Given the description of an element on the screen output the (x, y) to click on. 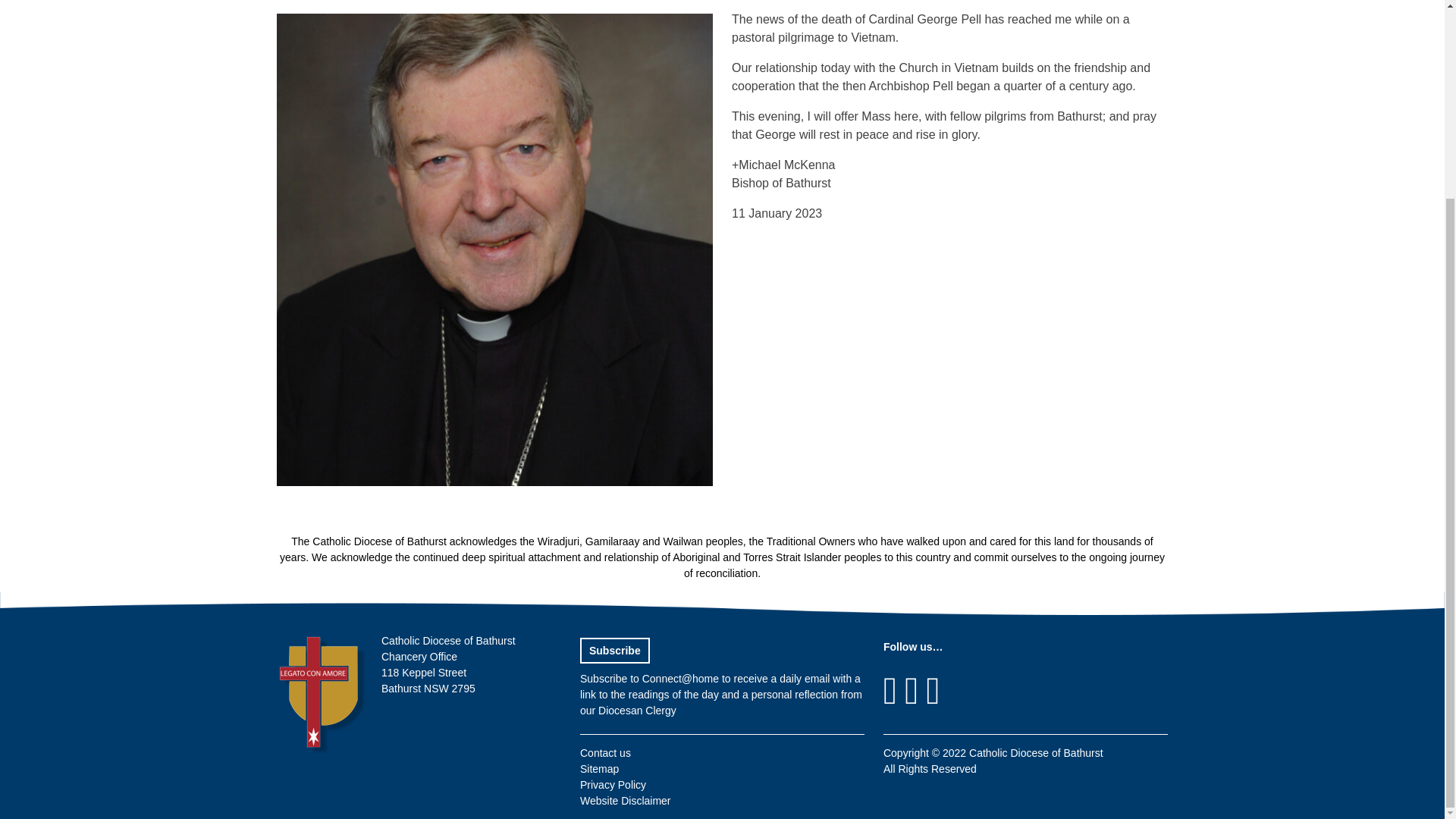
Privacy Statement (612, 784)
Disclaimer (625, 800)
Sitemap (598, 768)
Contact us (604, 752)
